Given the description of an element on the screen output the (x, y) to click on. 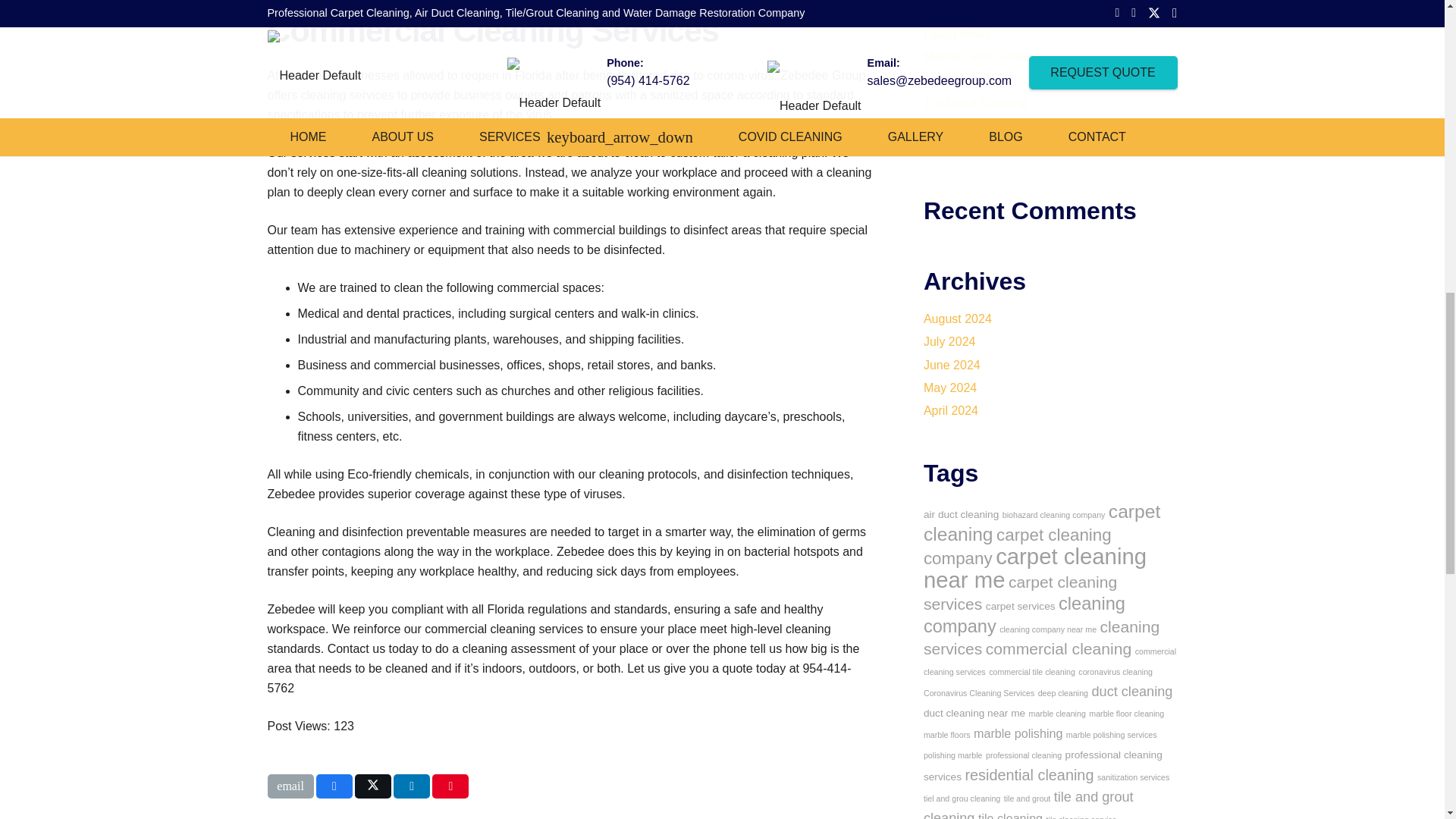
Share this (333, 785)
Email this (289, 785)
Tweet this (373, 785)
Pin this (450, 785)
Back to top (1413, 26)
Share this (411, 785)
